Given the description of an element on the screen output the (x, y) to click on. 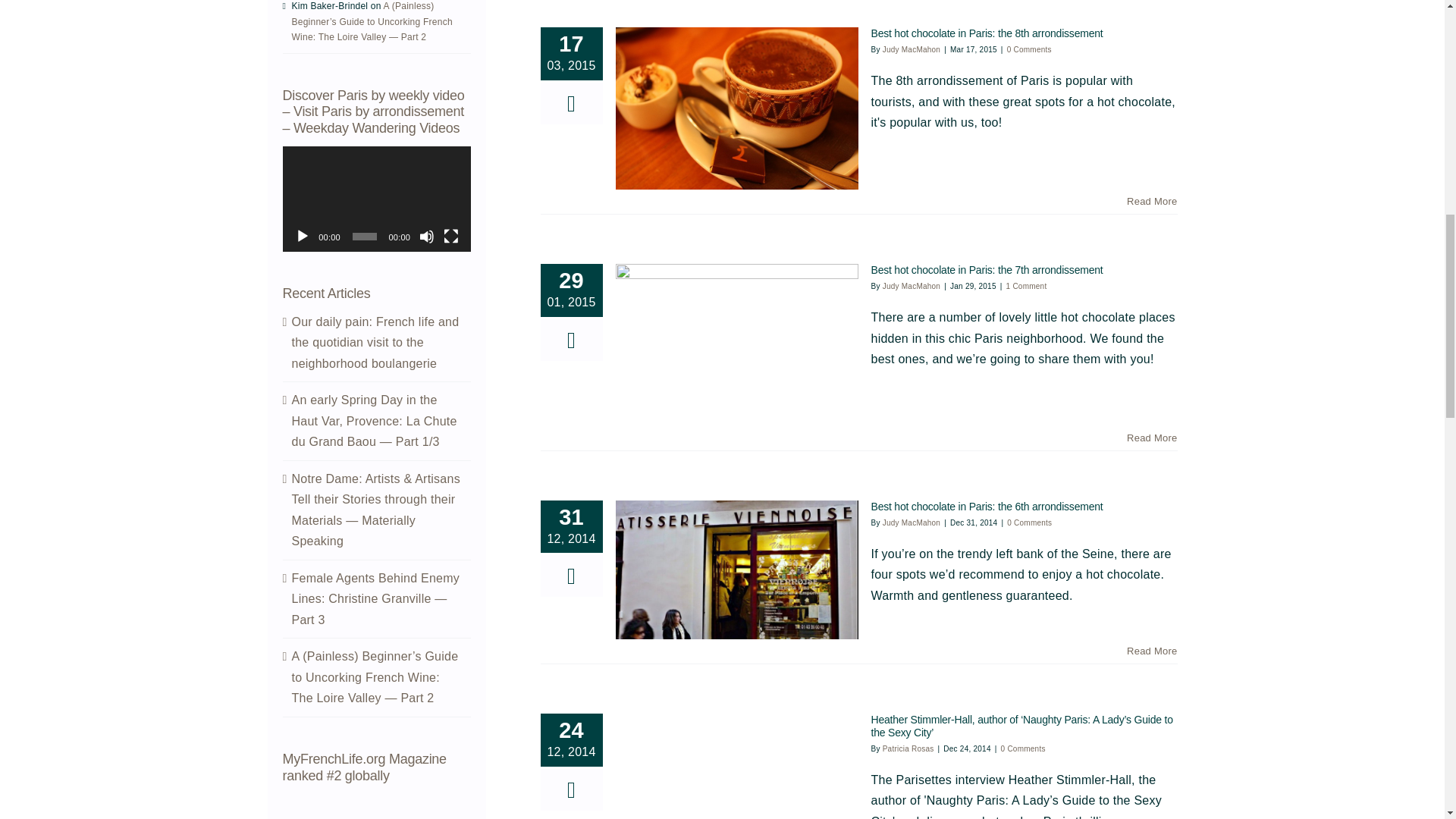
Posts by Judy MacMahon (911, 522)
Posts by Judy MacMahon (911, 285)
Posts by Judy MacMahon (911, 49)
Posts by Patricia Rosas (908, 748)
